Given the description of an element on the screen output the (x, y) to click on. 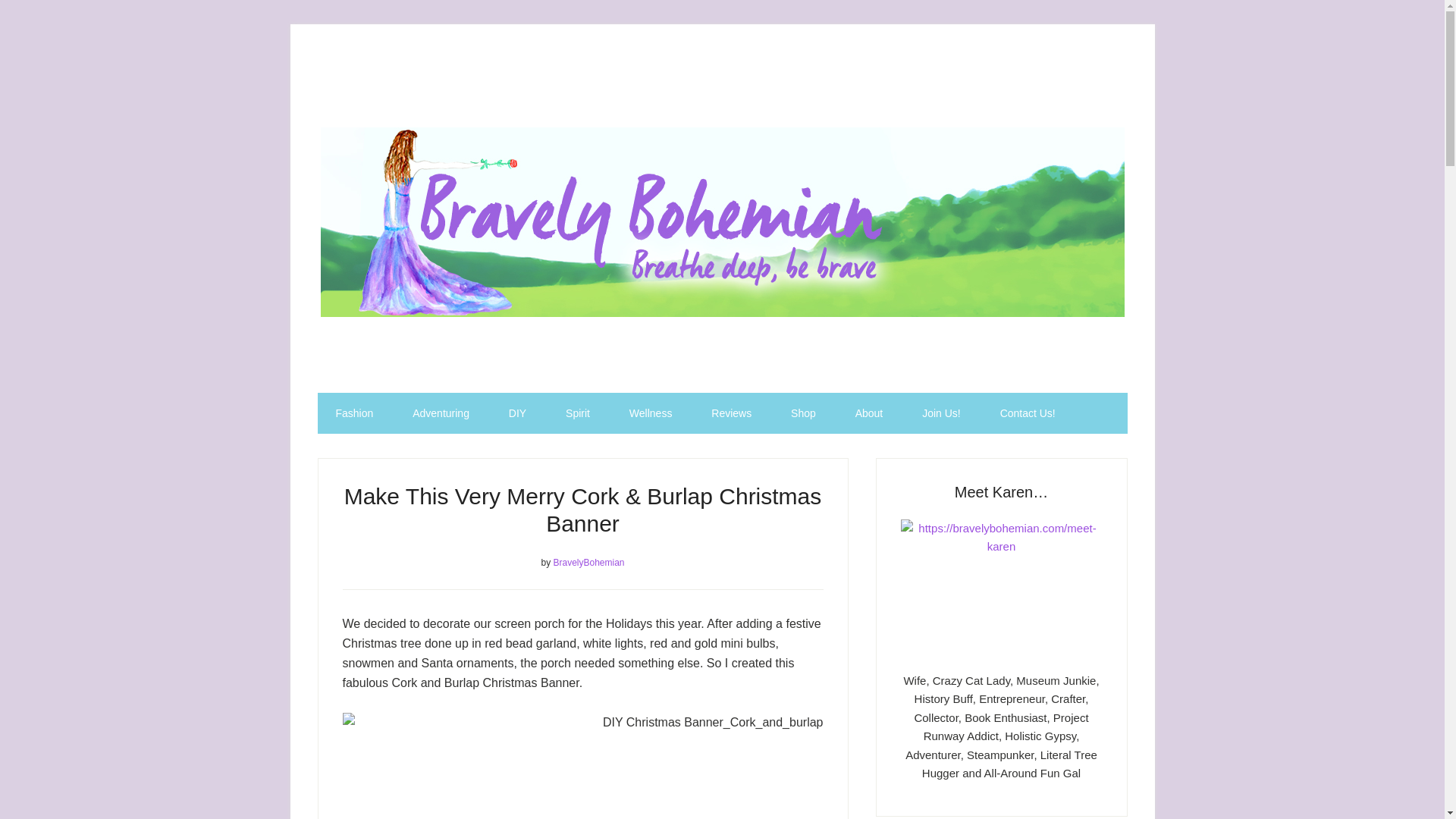
About (869, 413)
Join Us! (941, 413)
Reviews (731, 413)
BravelyBohemian (588, 562)
DIY (517, 413)
Wellness (650, 413)
Adventuring (440, 413)
Contact Us! (1027, 413)
Shop (803, 413)
Spirit (577, 413)
Karen McMahon (1001, 586)
Fashion (354, 413)
